Given the description of an element on the screen output the (x, y) to click on. 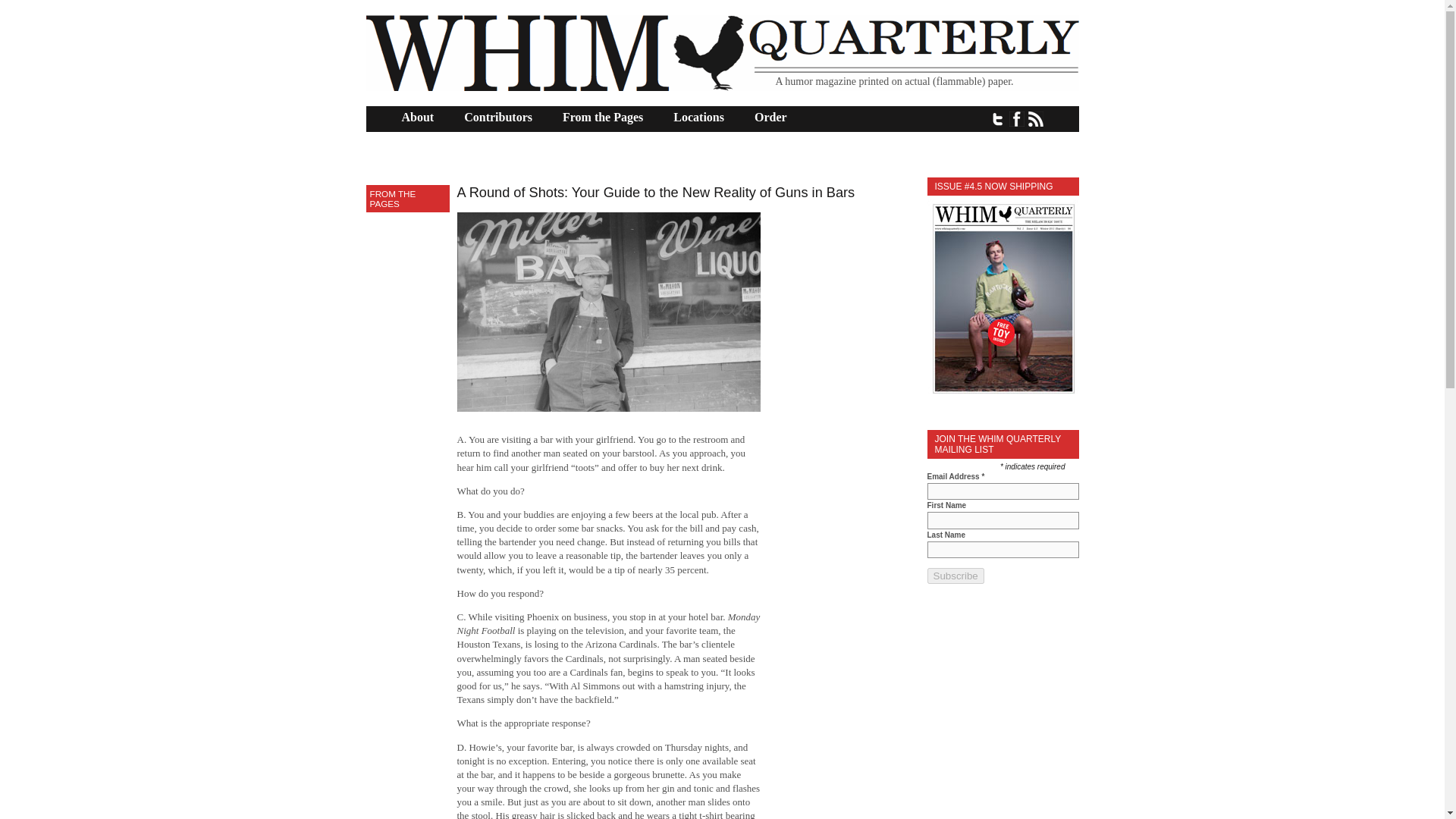
Pick up a copy of Whim Quarterly (1002, 395)
Subscribe via RSS. (1035, 118)
Locations (697, 117)
From the Pages (602, 117)
FROM THE PAGES (392, 198)
Contributors (498, 117)
Become a fan on Facebook. (1016, 118)
Order (770, 117)
Subscribe (955, 575)
